Given the description of an element on the screen output the (x, y) to click on. 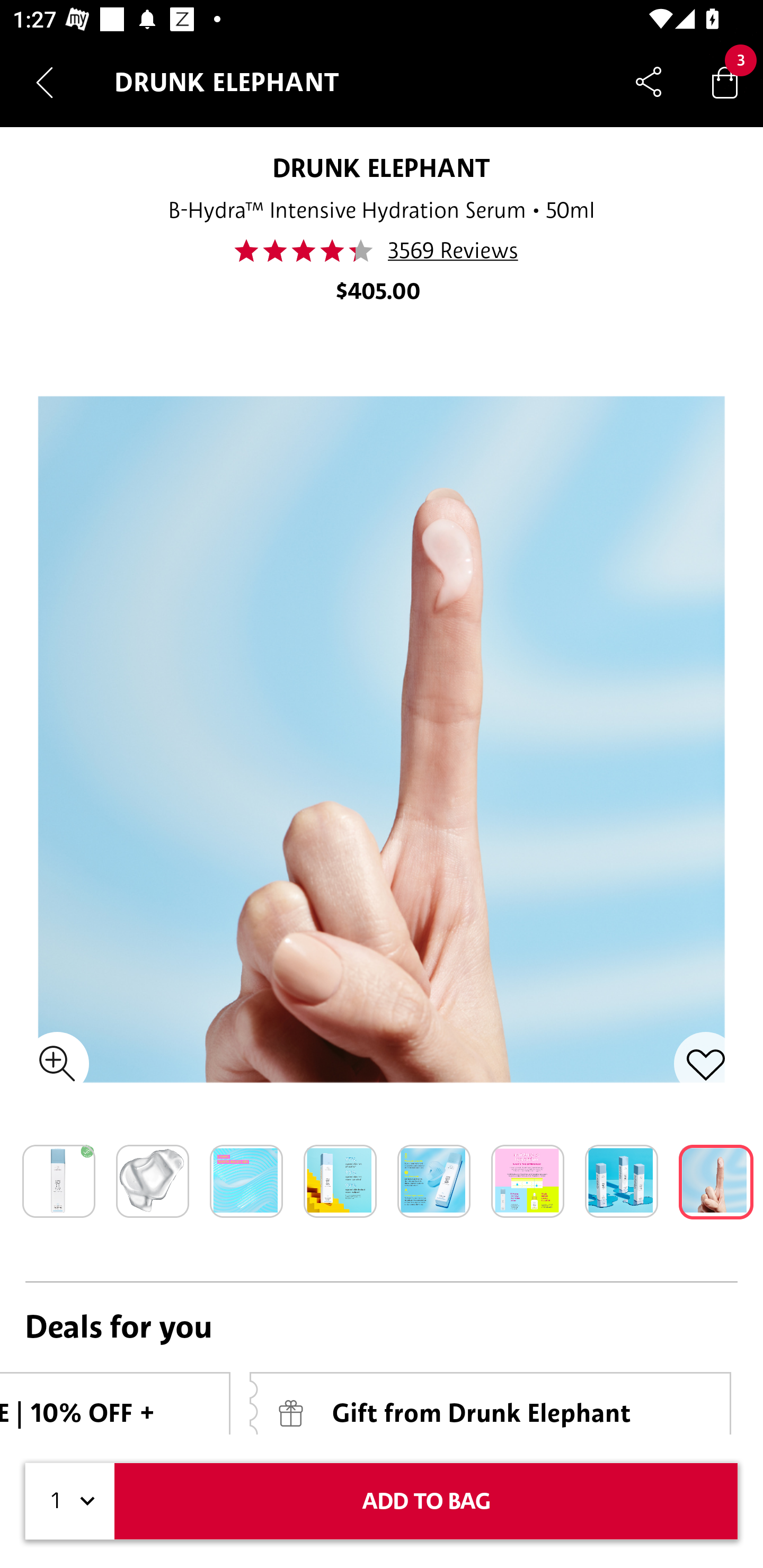
Navigate up (44, 82)
Share (648, 81)
Bag (724, 81)
DRUNK ELEPHANT (381, 167)
43.0 3569 Reviews (381, 250)
1 (69, 1500)
ADD TO BAG (425, 1500)
